Given the description of an element on the screen output the (x, y) to click on. 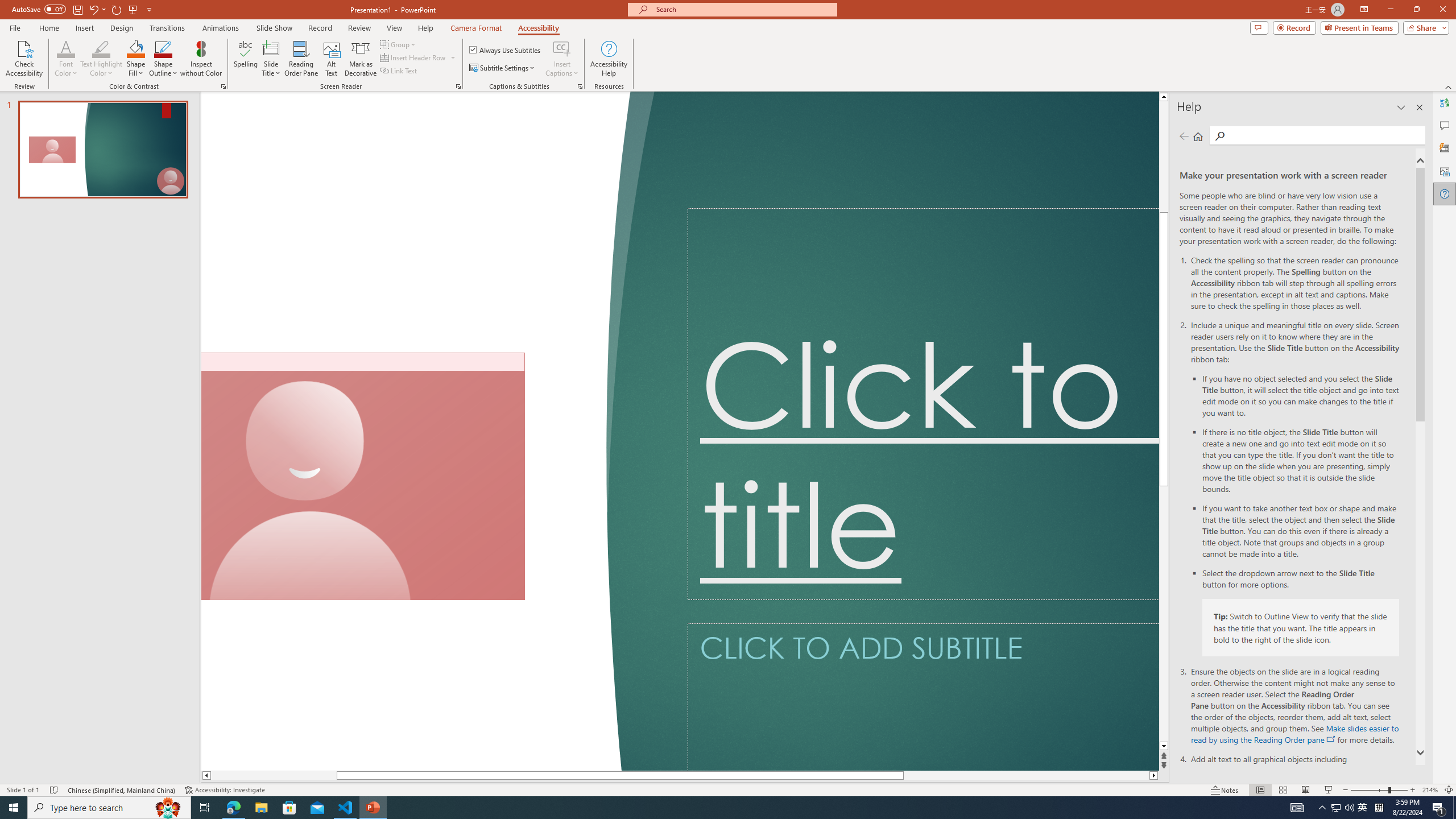
Subtitle Settings (502, 67)
Screen Reader (458, 85)
Decorative Locked (419, 430)
Captions & Subtitles (580, 85)
Previous page (1183, 136)
